Given the description of an element on the screen output the (x, y) to click on. 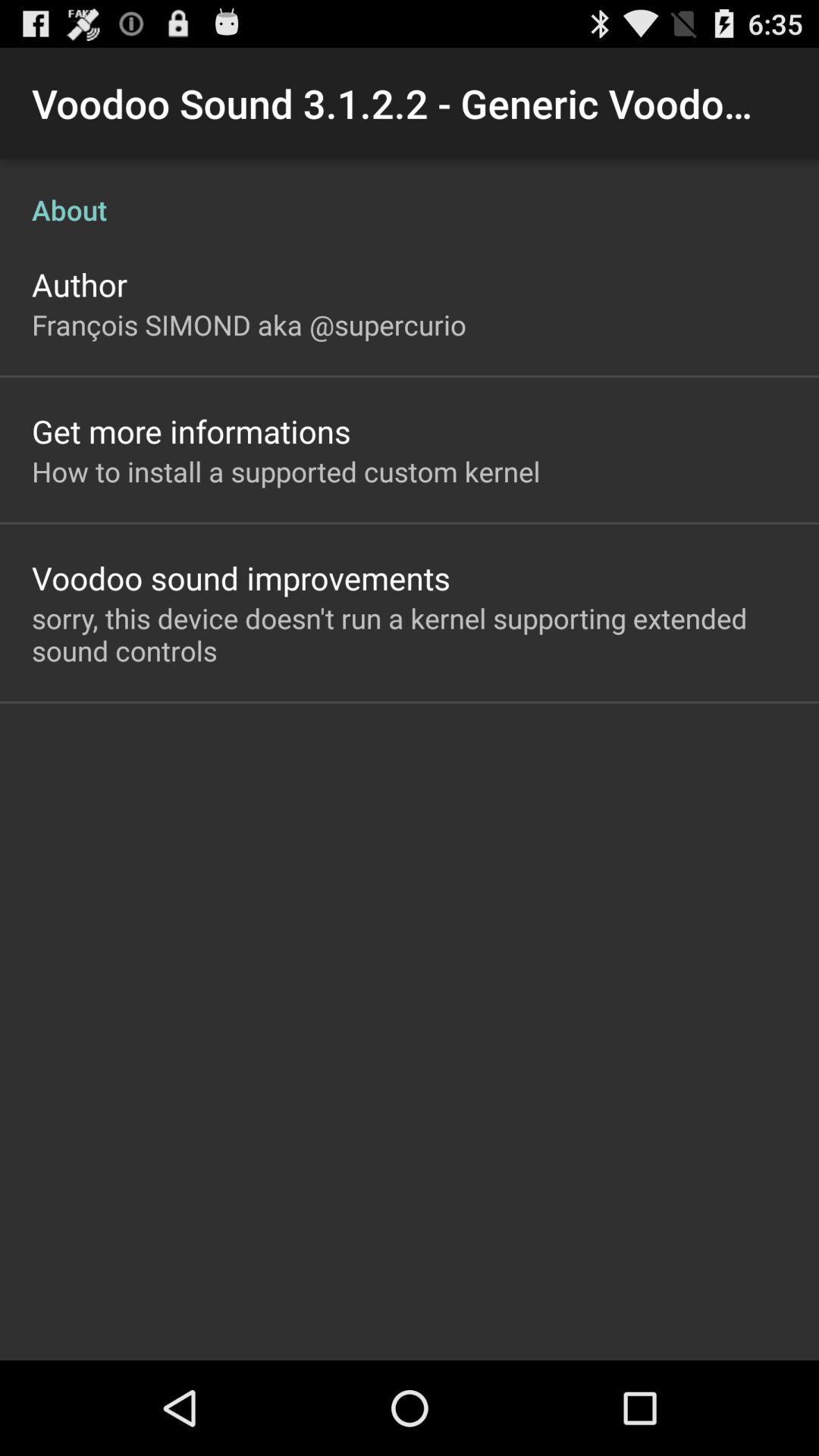
turn on icon below author item (248, 324)
